Given the description of an element on the screen output the (x, y) to click on. 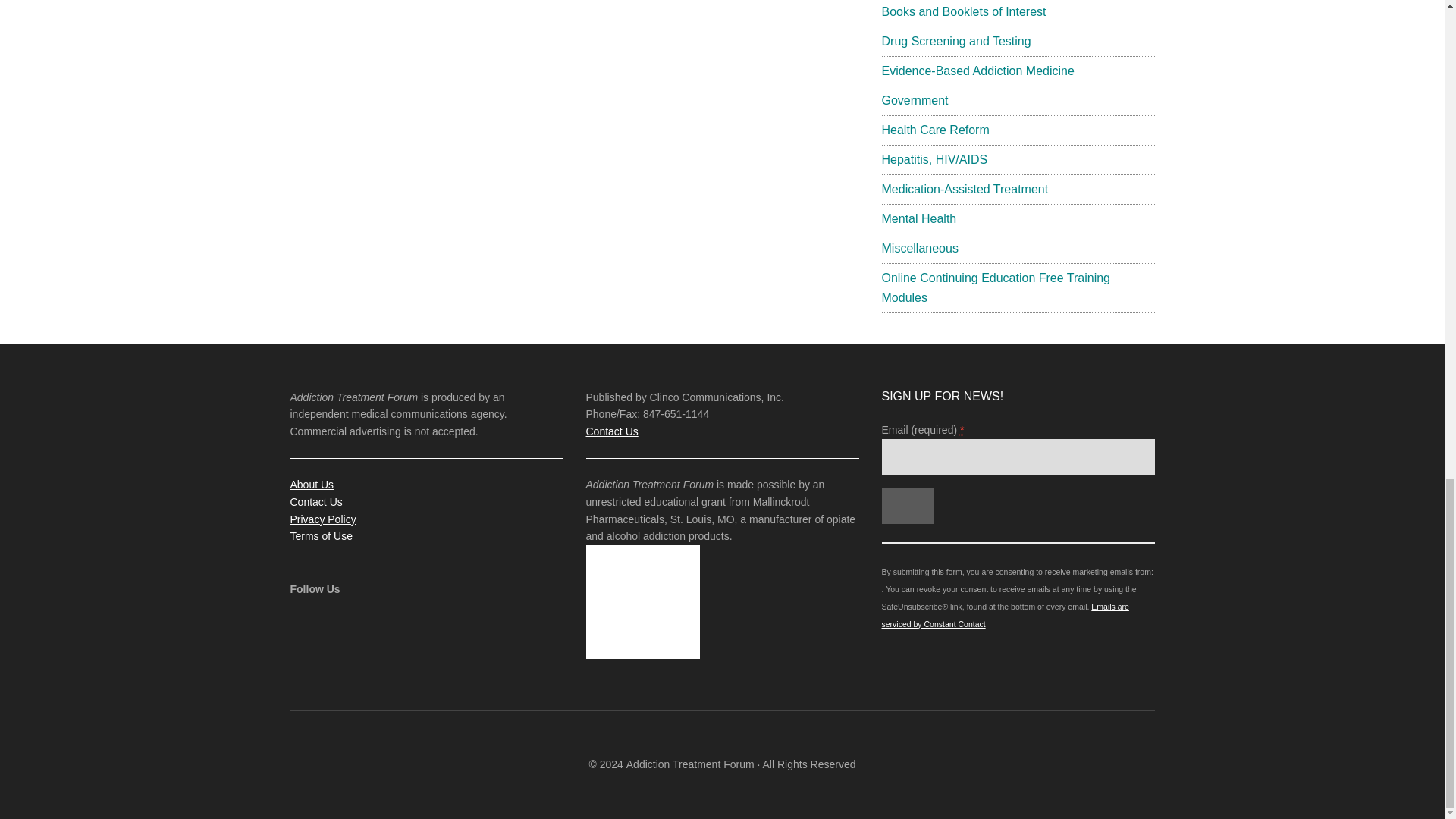
Evidence-Based Addiction Medicine (977, 70)
required (961, 429)
Health Care Reform (934, 129)
Books and Booklets of Interest (962, 11)
Go (907, 505)
Medication-Assisted Treatment (964, 188)
Miscellaneous (919, 247)
Drug Screening and Testing (955, 41)
Mental Health (918, 218)
Government (913, 100)
